Given the description of an element on the screen output the (x, y) to click on. 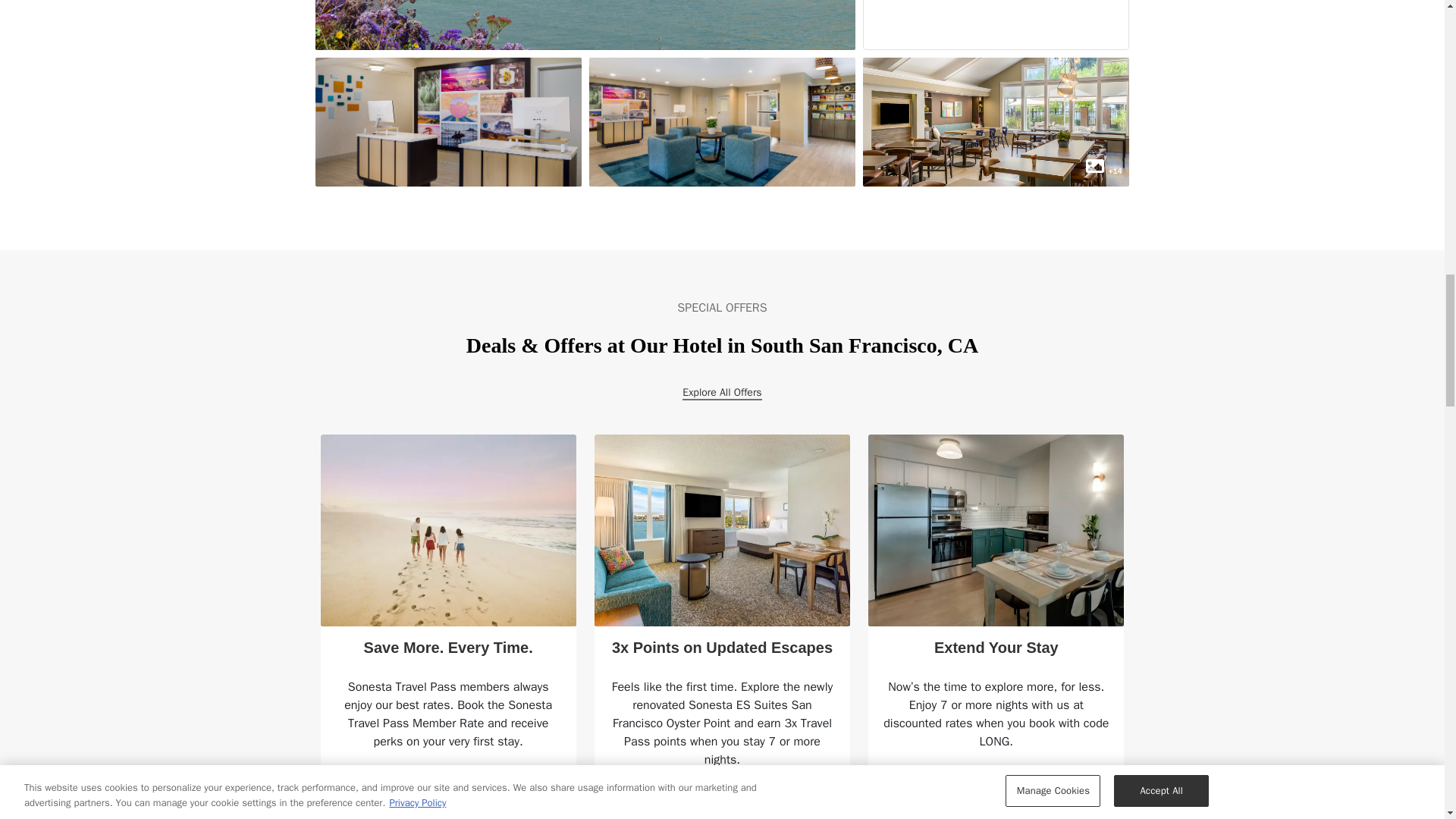
Explore All Offers (721, 392)
BOOK NOW (721, 802)
BOOK NOW (995, 802)
BOOK NOW (447, 802)
